Given the description of an element on the screen output the (x, y) to click on. 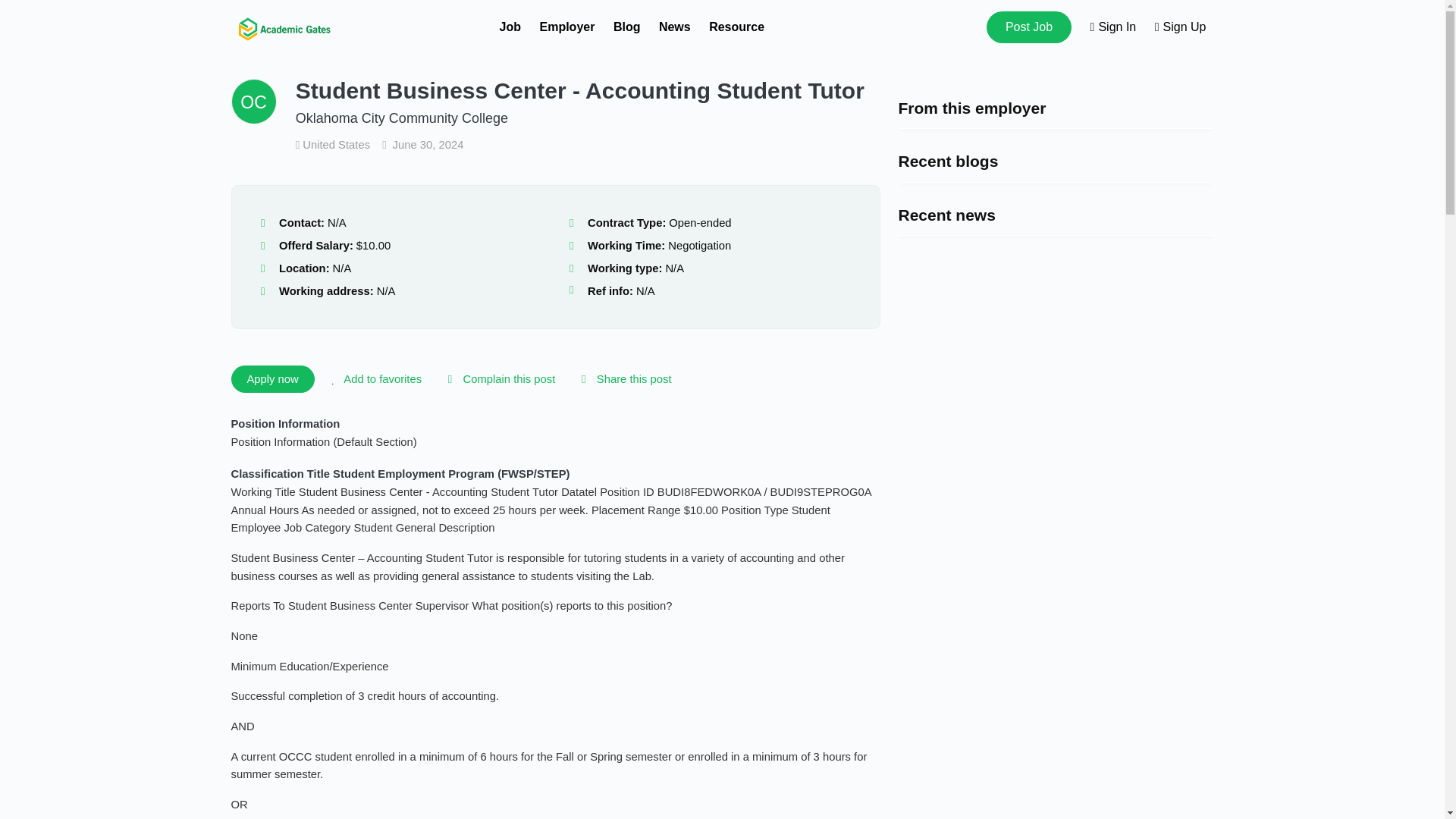
Share this post (623, 379)
United States (333, 144)
Apply now (272, 379)
Resource (736, 26)
Blog (626, 26)
Sign In (1113, 26)
Add to favorites (374, 379)
Employer (567, 26)
News (674, 26)
Oklahoma City Community College (401, 118)
